Given the description of an element on the screen output the (x, y) to click on. 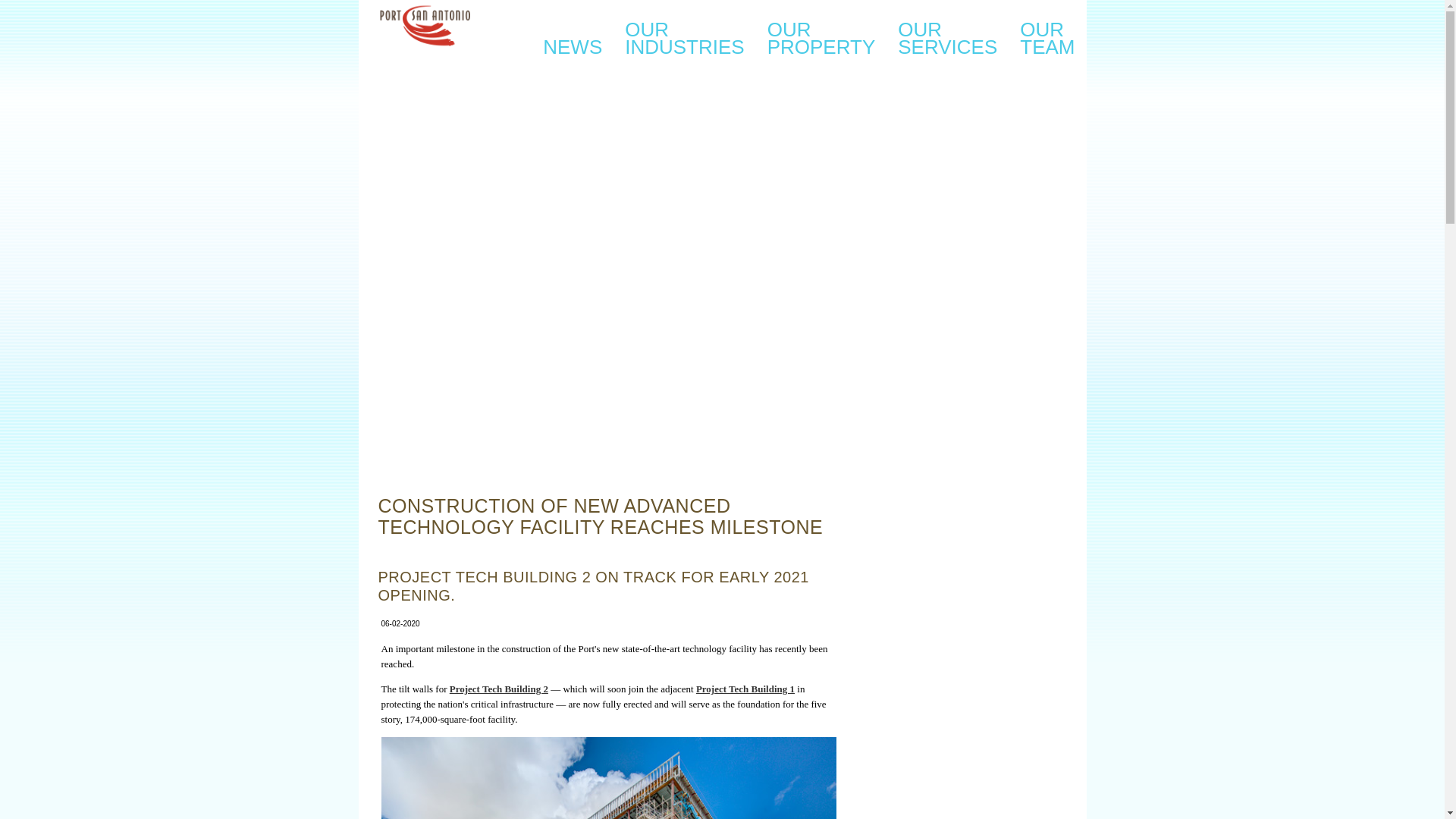
NEWS (571, 35)
Home (947, 35)
